Given the description of an element on the screen output the (x, y) to click on. 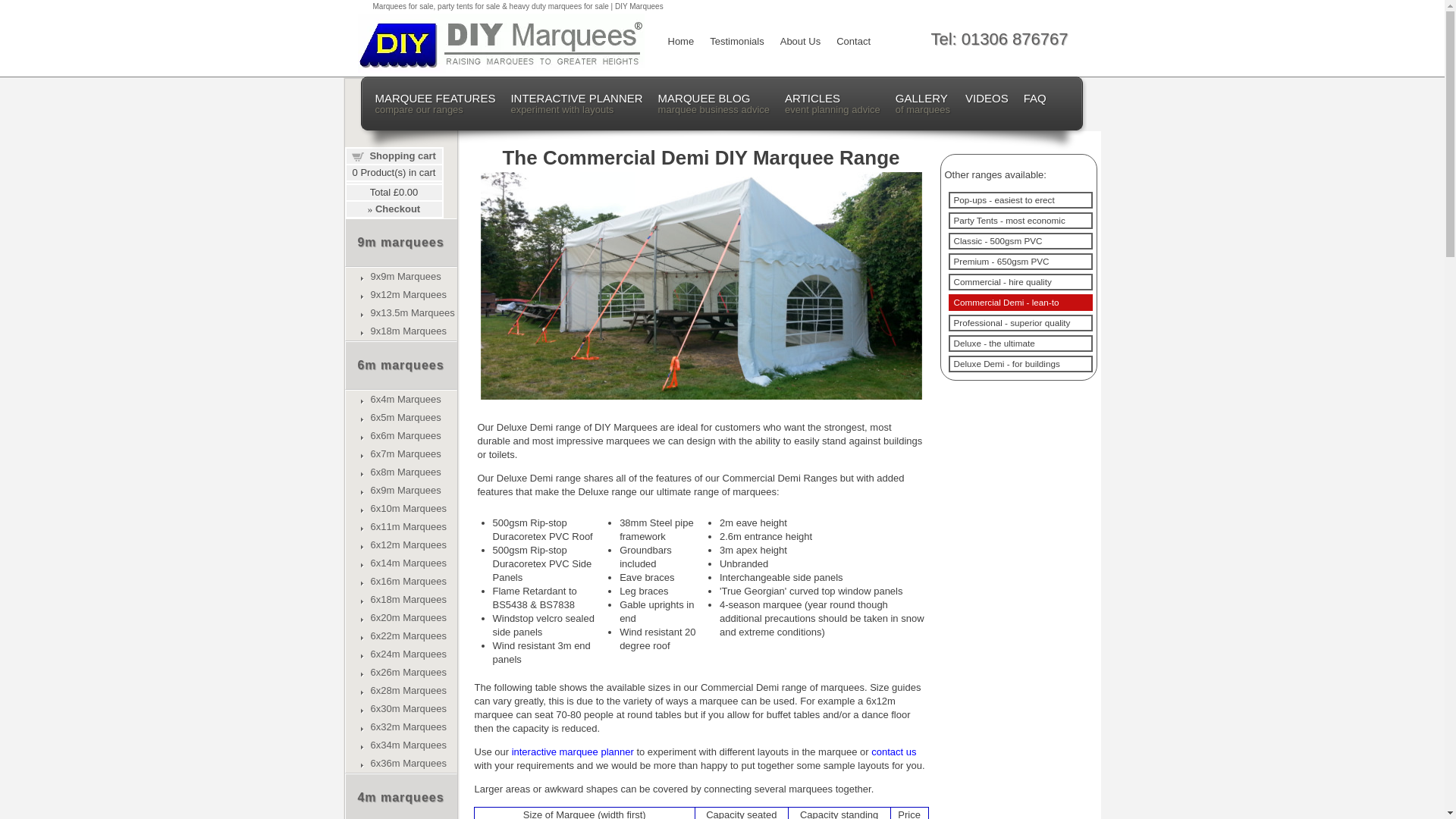
6x6m marquees for sale (405, 435)
6x26m Marquees (407, 672)
Frequently asked questions (1034, 97)
DIY Marquees - Home (677, 41)
6x10m Marquees (407, 508)
6x5m Marquees (405, 417)
Event Planning Advice (832, 104)
9x12m marquees for sale (411, 312)
6x7m Marquees (405, 453)
6x20m Marquees (407, 617)
6x34m Marquees (407, 745)
Testimonials (733, 41)
9x9m traditional marquees for sale (405, 276)
6x4m Marquees (405, 398)
6x32m Marquees (407, 726)
